Given the description of an element on the screen output the (x, y) to click on. 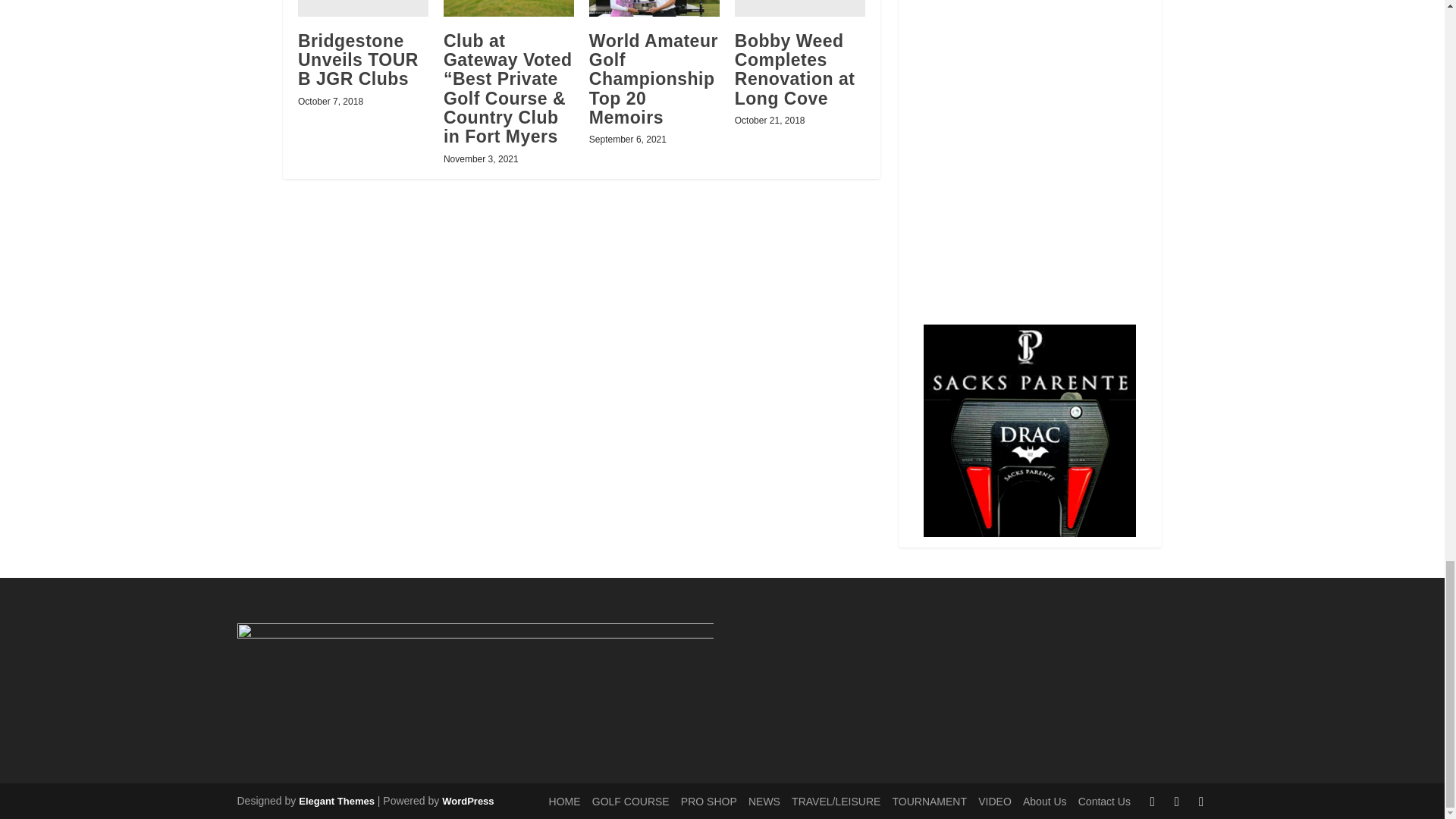
Premium WordPress Themes (336, 800)
Bridgestone Unveils TOUR B JGR Clubs (363, 8)
Bobby Weed Completes Renovation at Long Cove (799, 8)
World Amateur Golf Championship Top 20 Memoirs (654, 8)
